Given the description of an element on the screen output the (x, y) to click on. 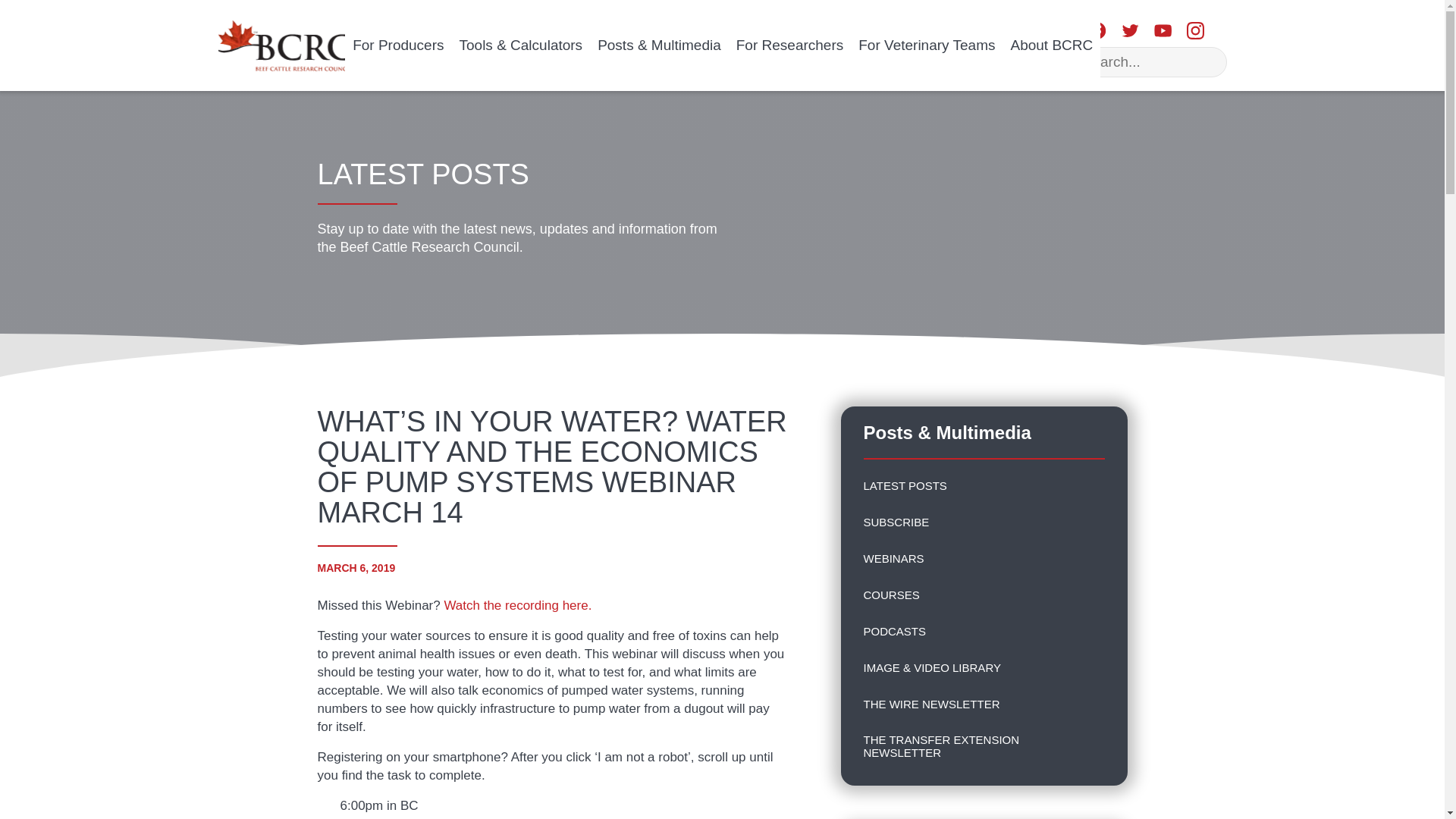
BCRC (282, 44)
For Producers (398, 45)
For Producers (398, 45)
Beef Research (282, 43)
